Given the description of an element on the screen output the (x, y) to click on. 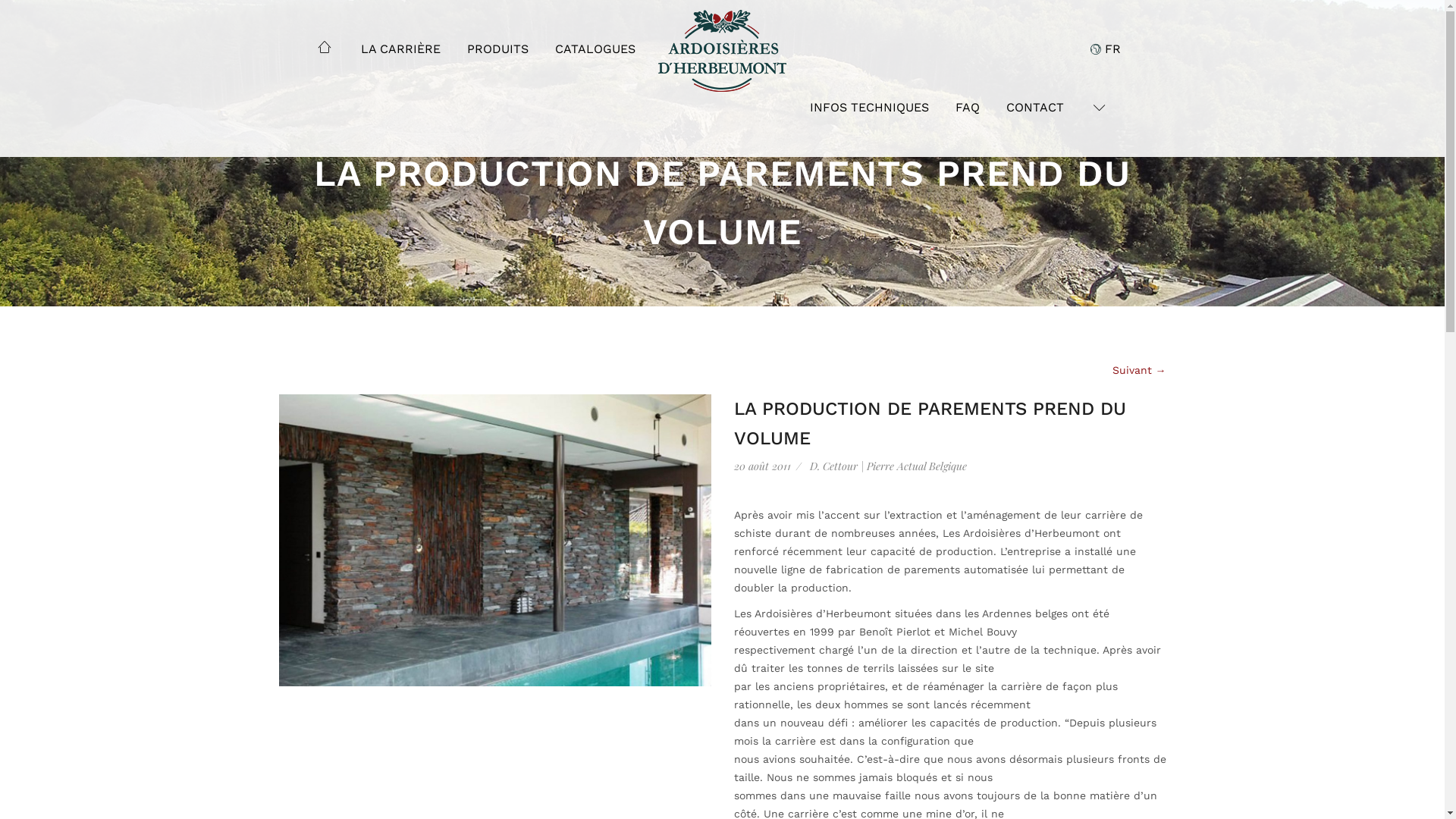
CATALOGUES Element type: text (595, 48)
FAQ Element type: text (967, 107)
CONTACT Element type: text (1034, 107)
D. Cettour | Pierre Actual Belgique Element type: text (887, 465)
INFOS TECHNIQUES Element type: text (868, 107)
FR Element type: text (1105, 49)
PRODUITS Element type: text (497, 48)
